Given the description of an element on the screen output the (x, y) to click on. 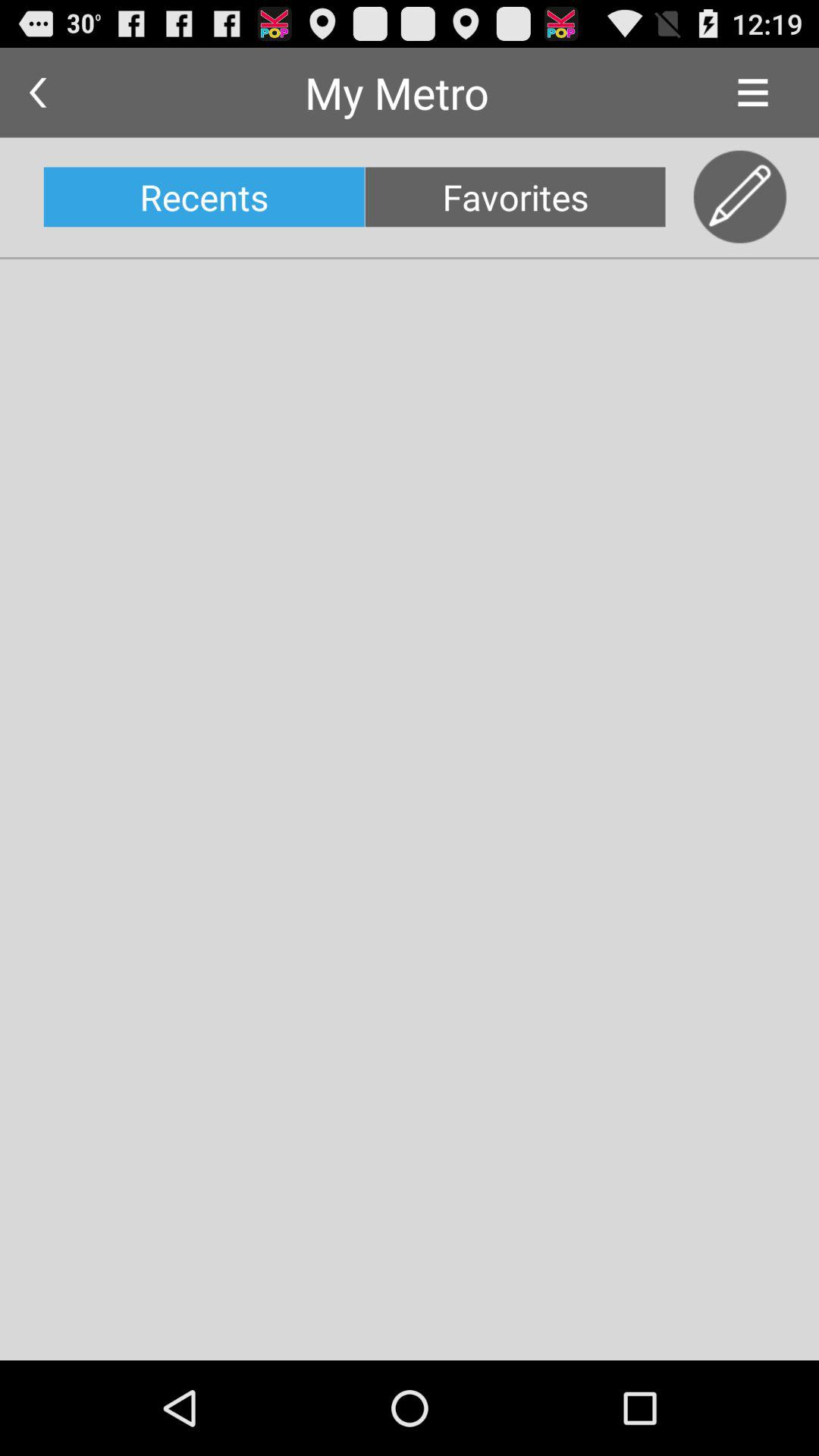
press icon next to the my metro icon (752, 92)
